Given the description of an element on the screen output the (x, y) to click on. 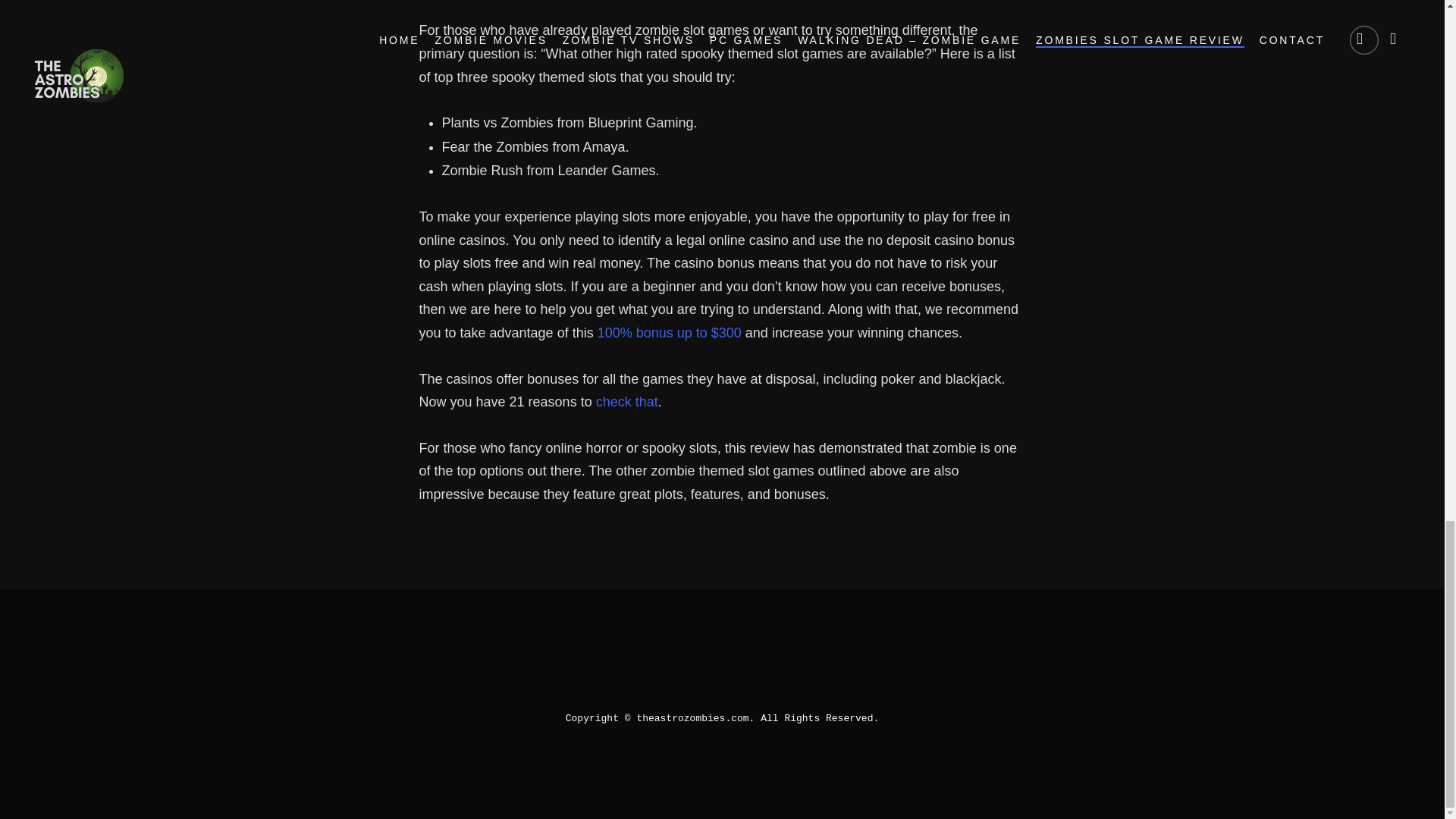
check that (626, 401)
